Given the description of an element on the screen output the (x, y) to click on. 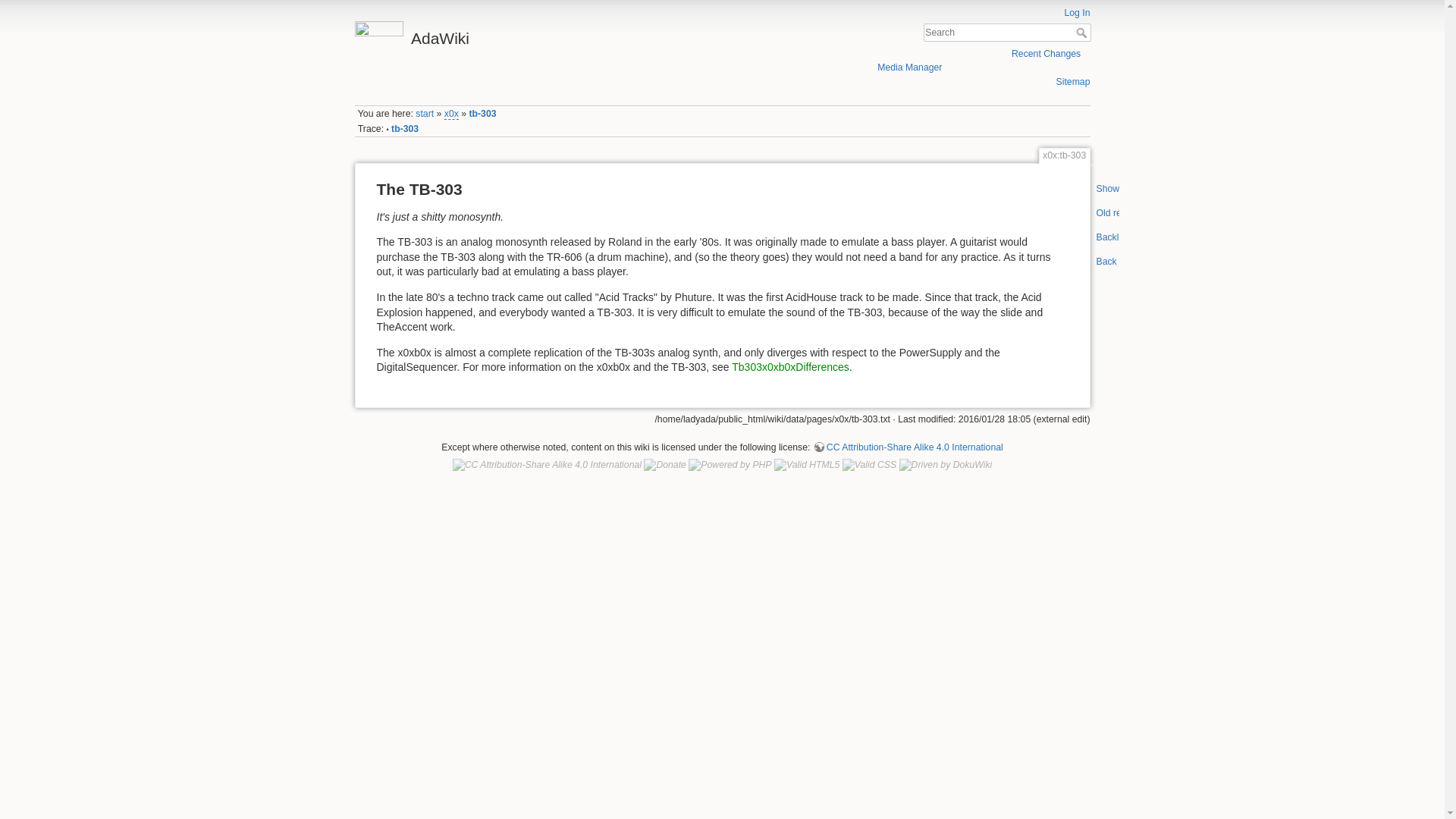
start (423, 113)
x0x:tb-303 (482, 113)
Tb303x0xb0xDifferences (790, 367)
x0x (451, 113)
x0x:tb303x0xb0xdifferences (790, 367)
Search (1082, 32)
tb-303 (405, 128)
Sitemap (1073, 81)
Media Manager (909, 67)
Show pagesource (1106, 192)
